Given the description of an element on the screen output the (x, y) to click on. 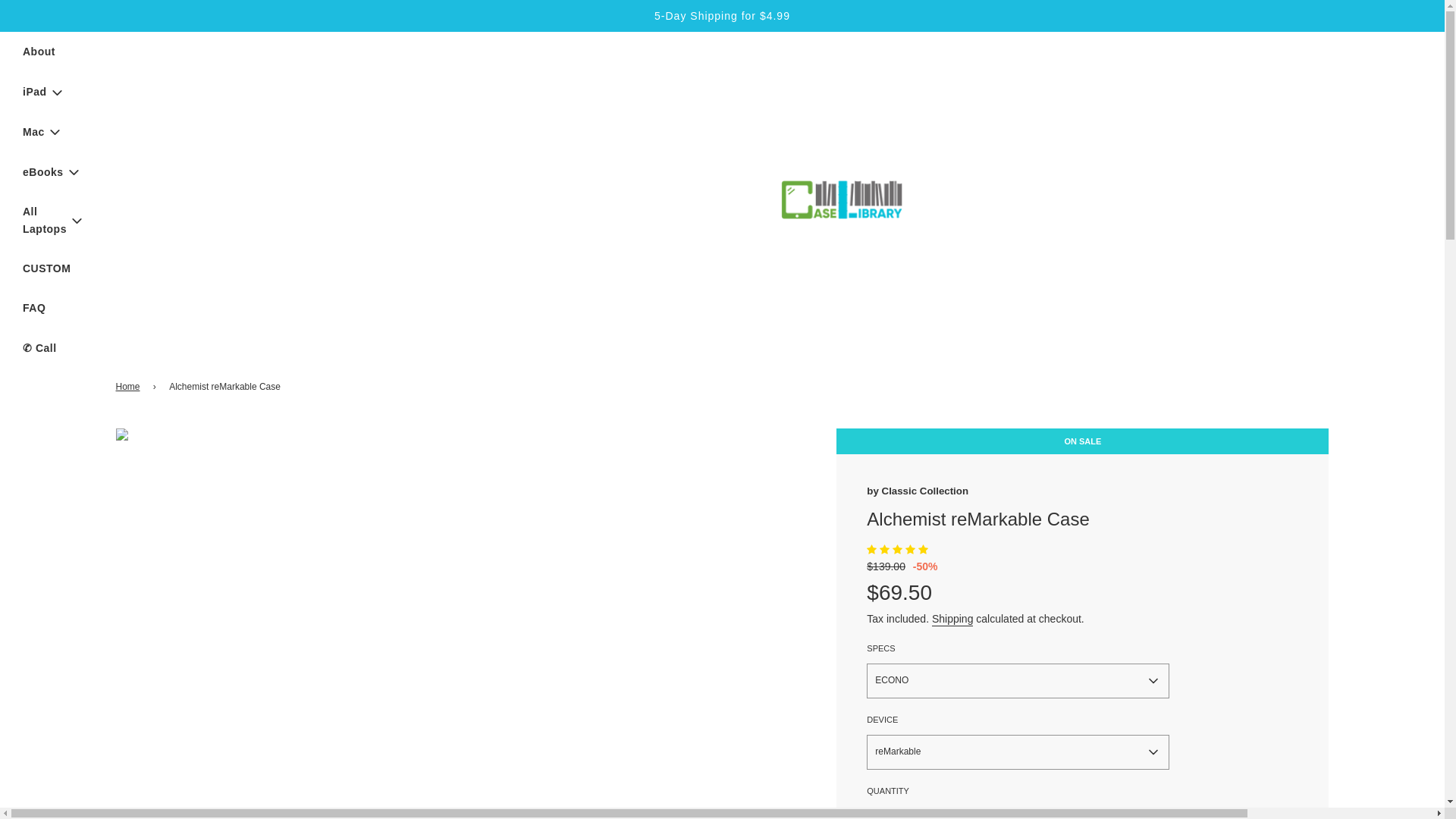
by Classic Collection (917, 490)
Back to the frontpage (129, 386)
1 (898, 812)
